Given the description of an element on the screen output the (x, y) to click on. 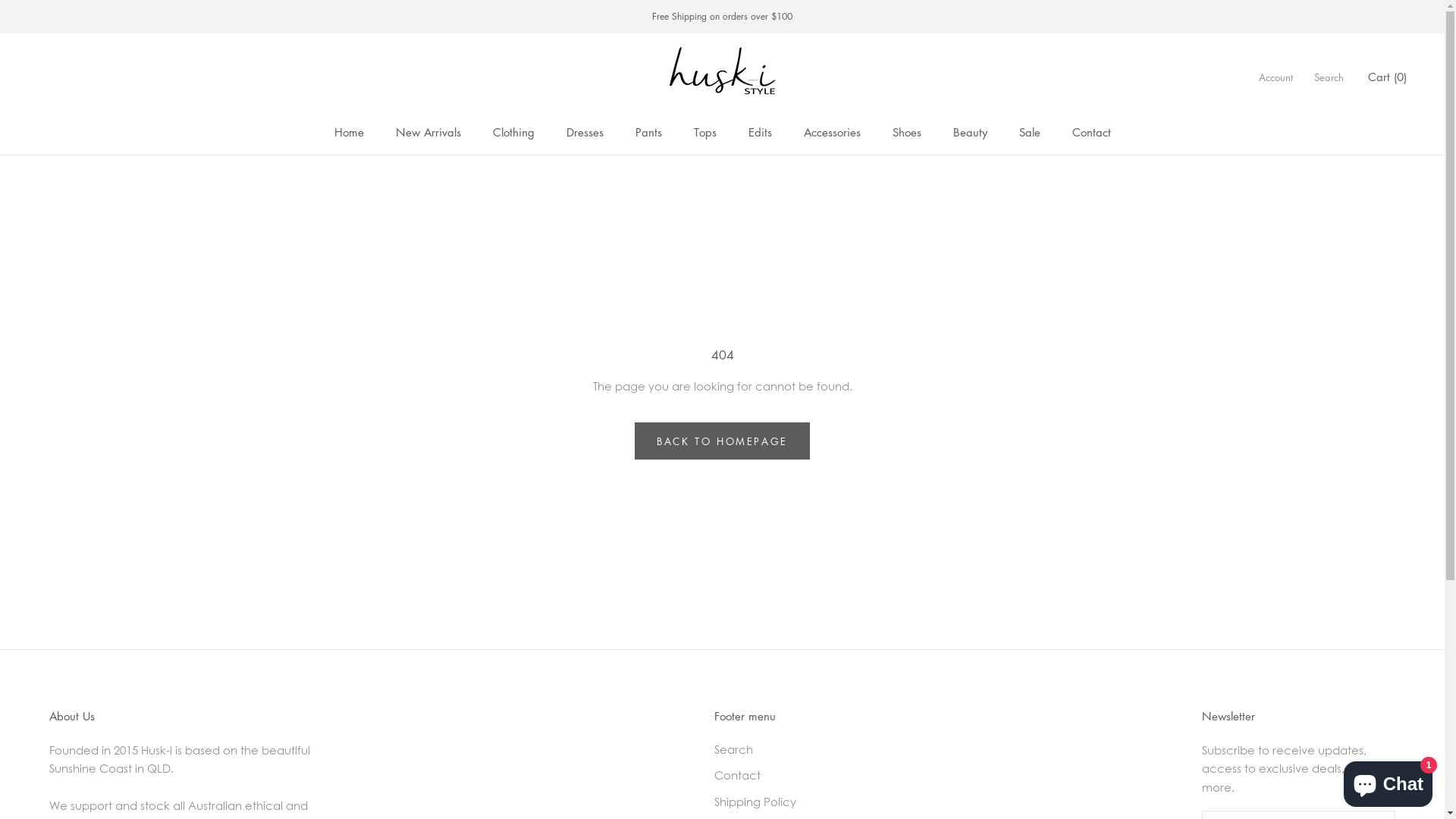
Search Element type: text (758, 749)
BACK TO HOMEPAGE Element type: text (721, 440)
Shopify online store chat Element type: hover (1388, 780)
Dresses
Dresses Element type: text (583, 131)
Sale
Sale Element type: text (1029, 131)
Home
Home Element type: text (348, 131)
Account Element type: text (1275, 76)
New Arrivals
New Arrivals Element type: text (428, 131)
Shipping Policy Element type: text (758, 801)
Contact
Contact Element type: text (1091, 131)
Edits Element type: text (759, 131)
Accessories Element type: text (831, 131)
Clothing Element type: text (513, 131)
Cart (0) Element type: text (1387, 76)
Shoes Element type: text (905, 131)
Tops
Tops Element type: text (704, 131)
Beauty Element type: text (969, 131)
Pants
Pants Element type: text (648, 131)
Search Element type: text (1328, 76)
Contact Element type: text (758, 775)
